Given the description of an element on the screen output the (x, y) to click on. 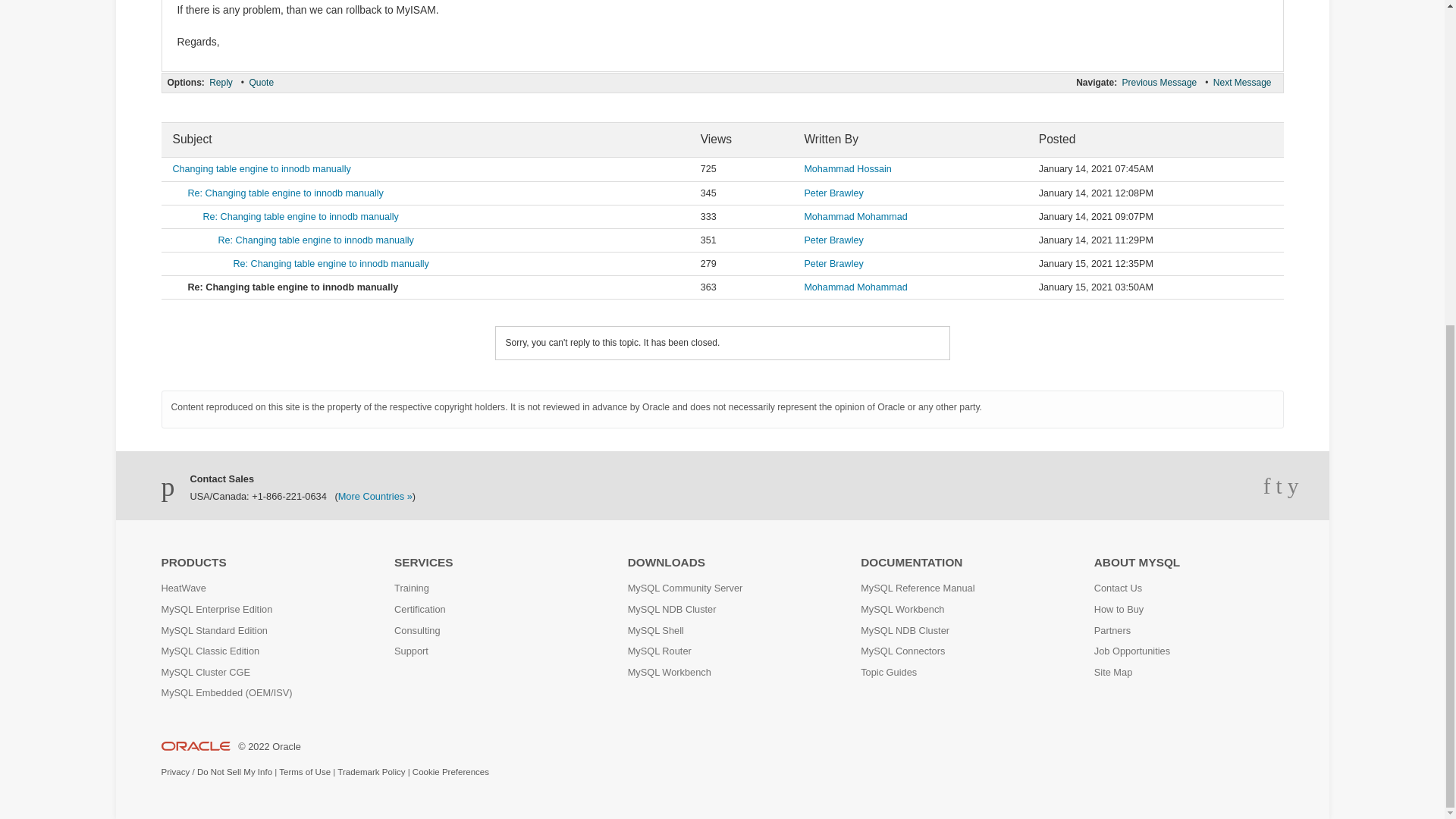
Re: Changing table engine to innodb manually (285, 193)
Next Message (1242, 82)
Re: Changing table engine to innodb manually (300, 216)
Previous Message (1159, 82)
Peter Brawley (833, 193)
Mohammad Hossain (847, 168)
Quote (261, 82)
Reply (220, 82)
Changing table engine to innodb manually (261, 168)
